Given the description of an element on the screen output the (x, y) to click on. 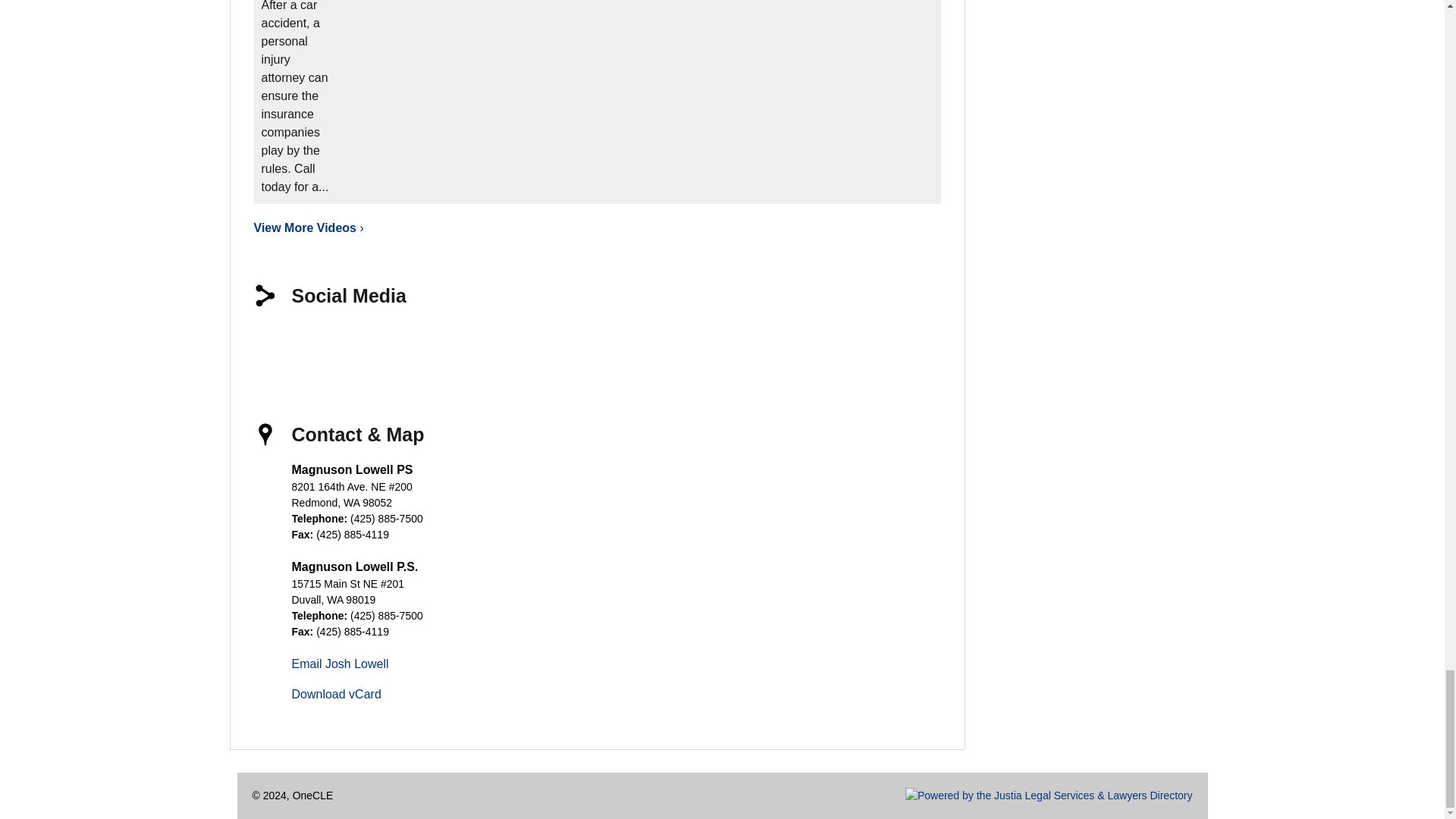
Josh Lowell's Avvo Profile (488, 345)
Josh Lowell on Facebook (275, 345)
 Justia Profile (435, 345)
Josh Lowell's Lawyers.com Profile (541, 345)
Josh Lowell's Lawyers.com Profile (541, 345)
Josh Lowell's Avvo Profile (488, 345)
Josh Lowell on LinkedIn (381, 345)
Email Josh Lowell (339, 663)
X (328, 345)
Download vCard (335, 694)
Facebook (275, 345)
LinkedIn (381, 345)
Justia Profile (435, 345)
